Given the description of an element on the screen output the (x, y) to click on. 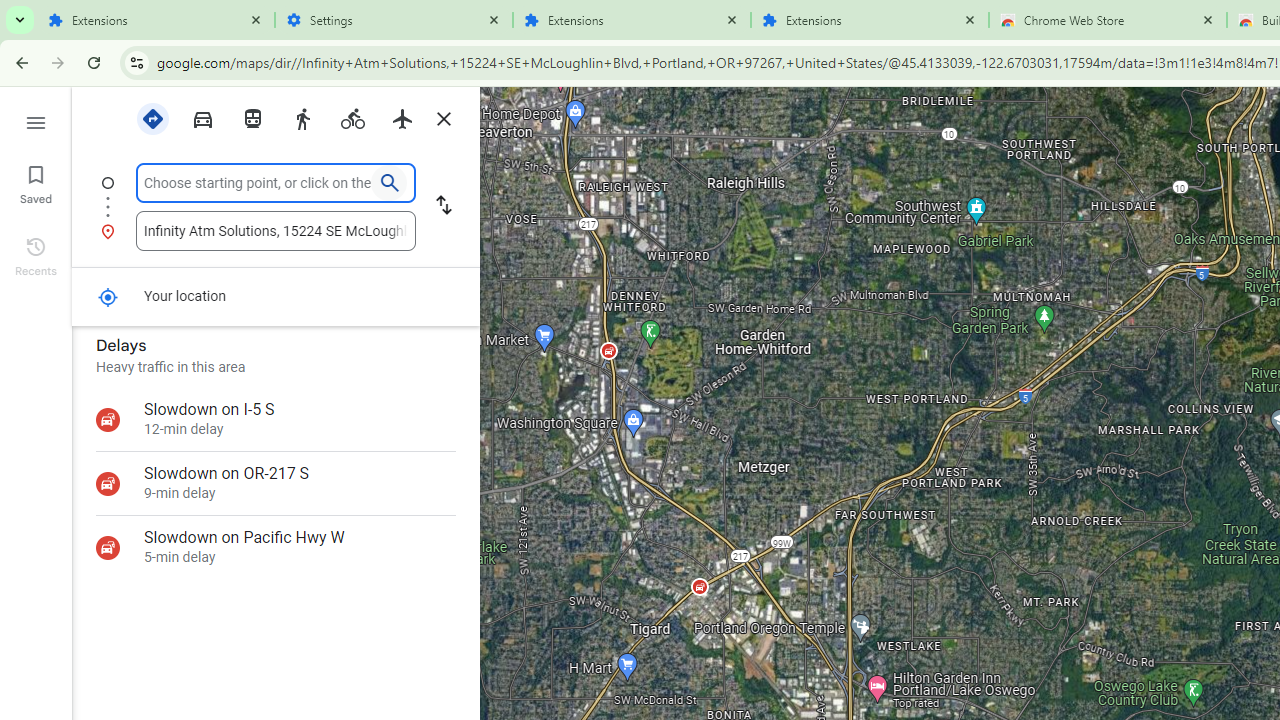
Menu (35, 120)
Cycling (352, 119)
Settings (394, 20)
Close directions (443, 119)
Flights (402, 117)
